Given the description of an element on the screen output the (x, y) to click on. 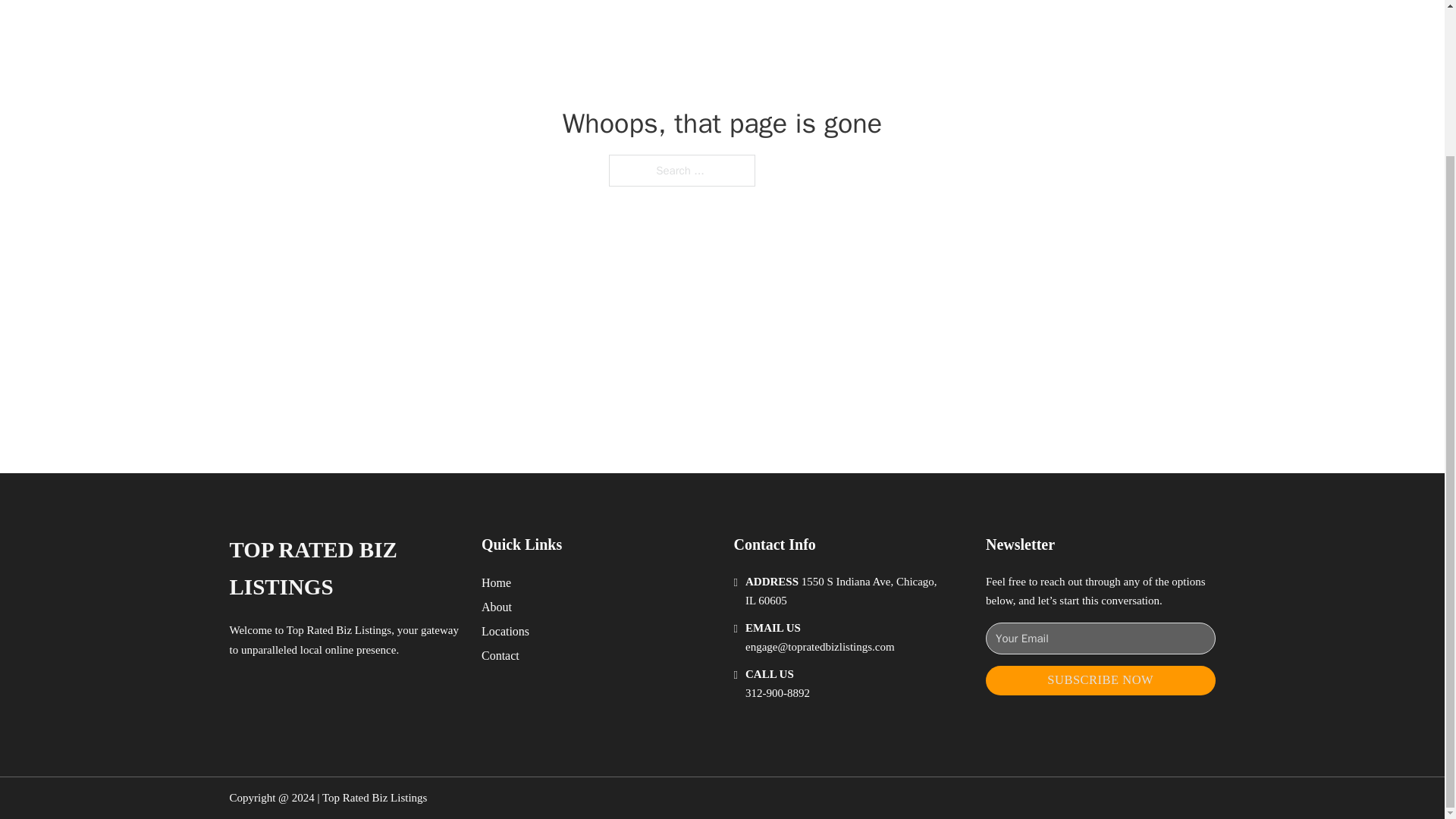
Home (496, 582)
TOP RATED BIZ LISTINGS (343, 568)
Contact (500, 655)
SUBSCRIBE NOW (1100, 680)
Locations (505, 630)
About (496, 607)
312-900-8892 (777, 693)
